Given the description of an element on the screen output the (x, y) to click on. 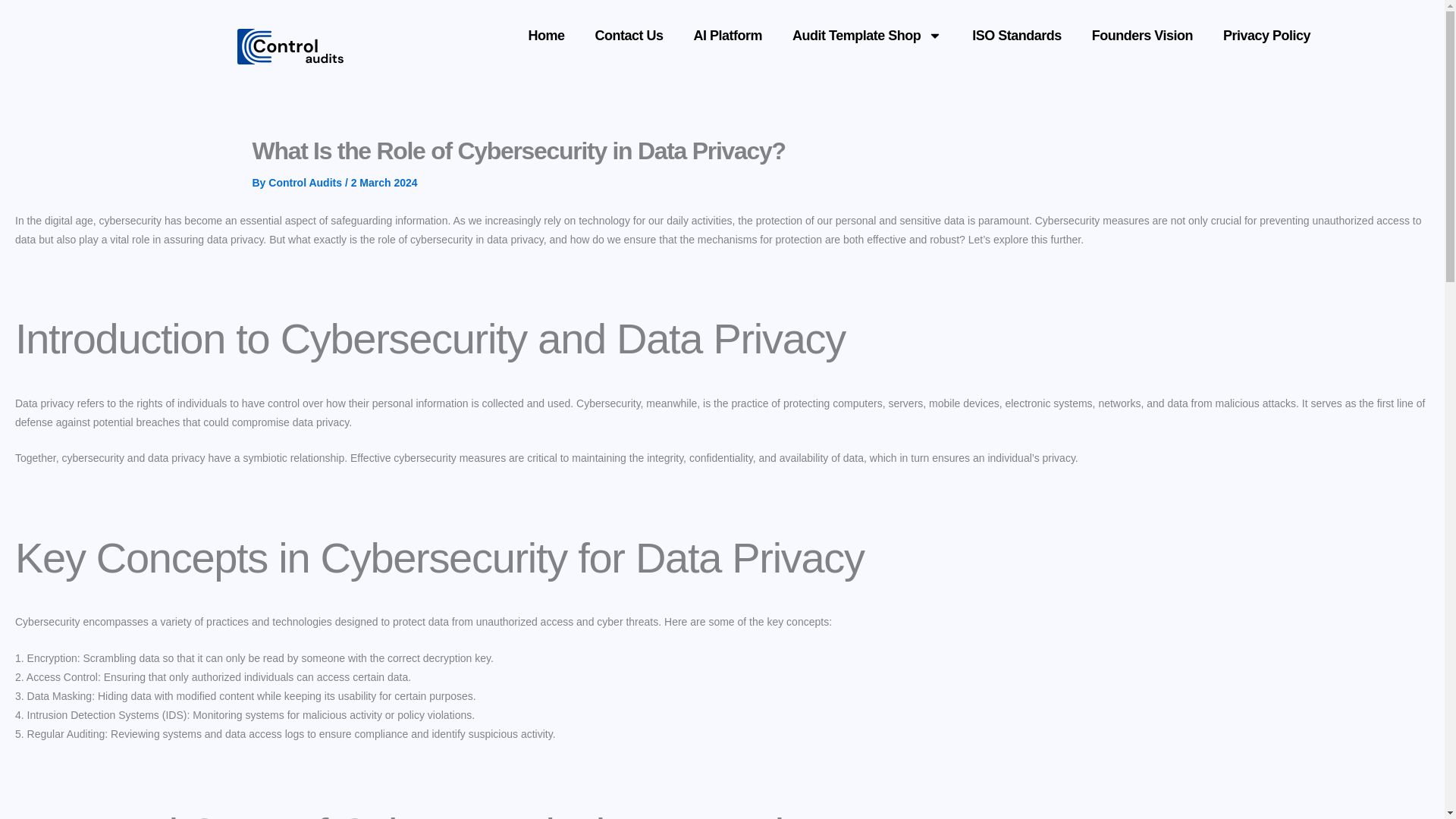
Privacy Policy (1266, 35)
Audit Template Shop (866, 35)
ISO Standards (1016, 35)
Founders Vision (1142, 35)
Contact Us (628, 35)
View all posts by Control Audits (306, 182)
Home (545, 35)
Control Audits (306, 182)
AI Platform (727, 35)
